Given the description of an element on the screen output the (x, y) to click on. 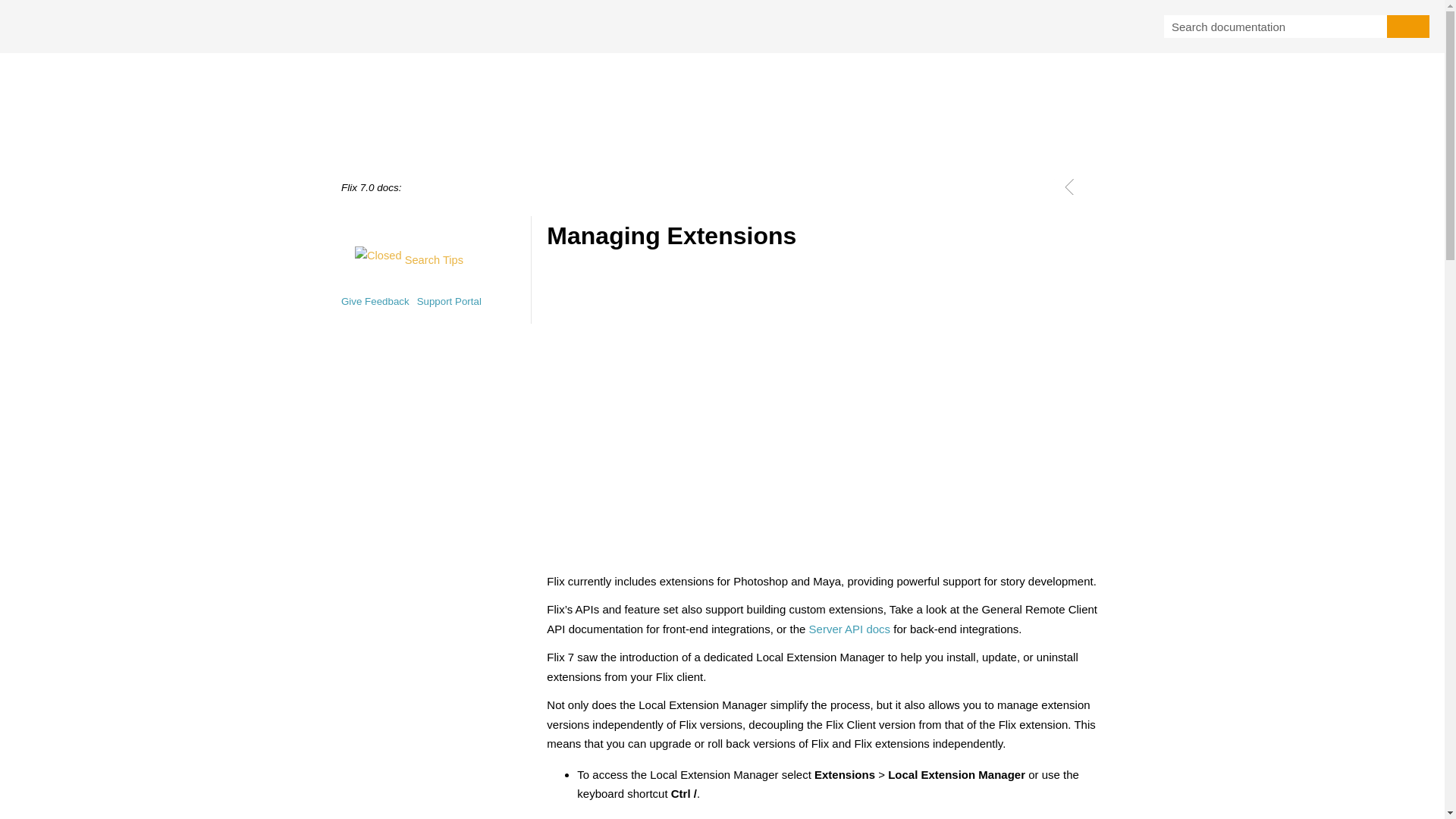
Navigate previous (1069, 186)
Search (1408, 26)
 Search Tips (401, 259)
Give Feedback (374, 300)
Print (1046, 186)
Server API docs (850, 628)
Support Portal (448, 300)
Navigate next (1091, 186)
